Given the description of an element on the screen output the (x, y) to click on. 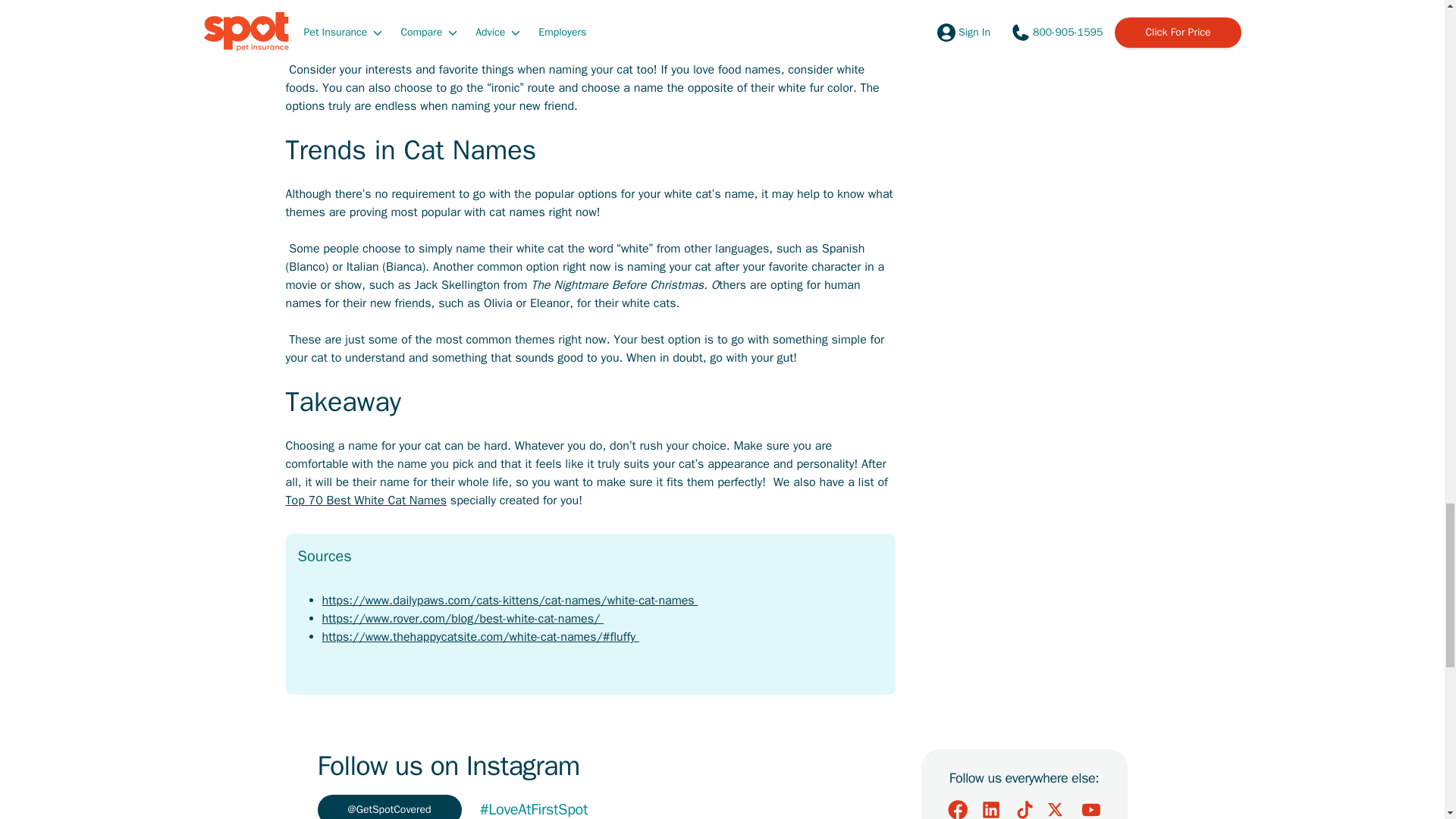
Spot on TikTok (1023, 808)
Spot on LinkedIn (990, 808)
Spot on YouTube (1090, 808)
Spot on X (1056, 808)
Spot on Facebook (956, 808)
